Given the description of an element on the screen output the (x, y) to click on. 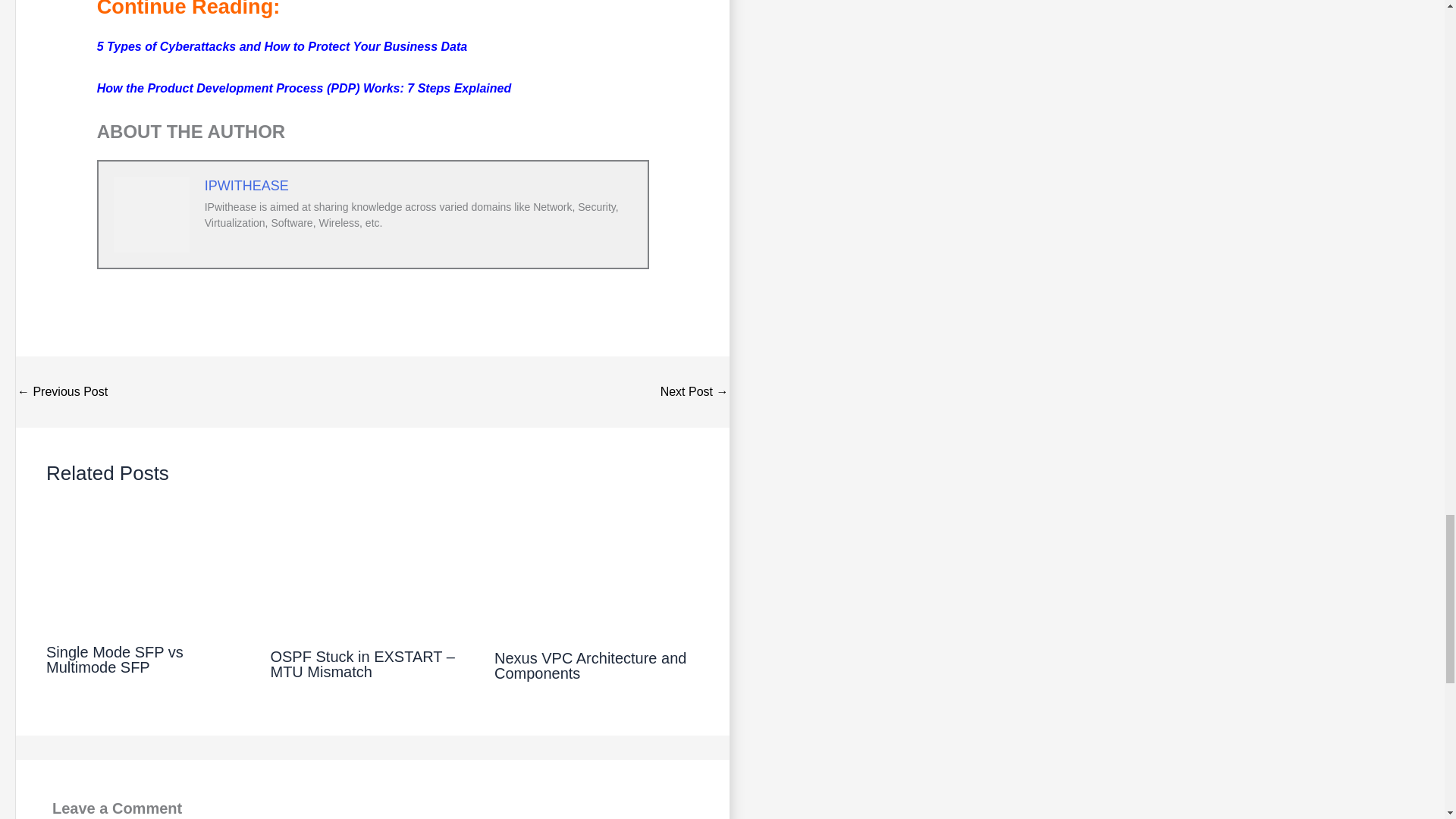
OSPFv2 vs OSPFv3: Detailed Comparison (695, 391)
